Given the description of an element on the screen output the (x, y) to click on. 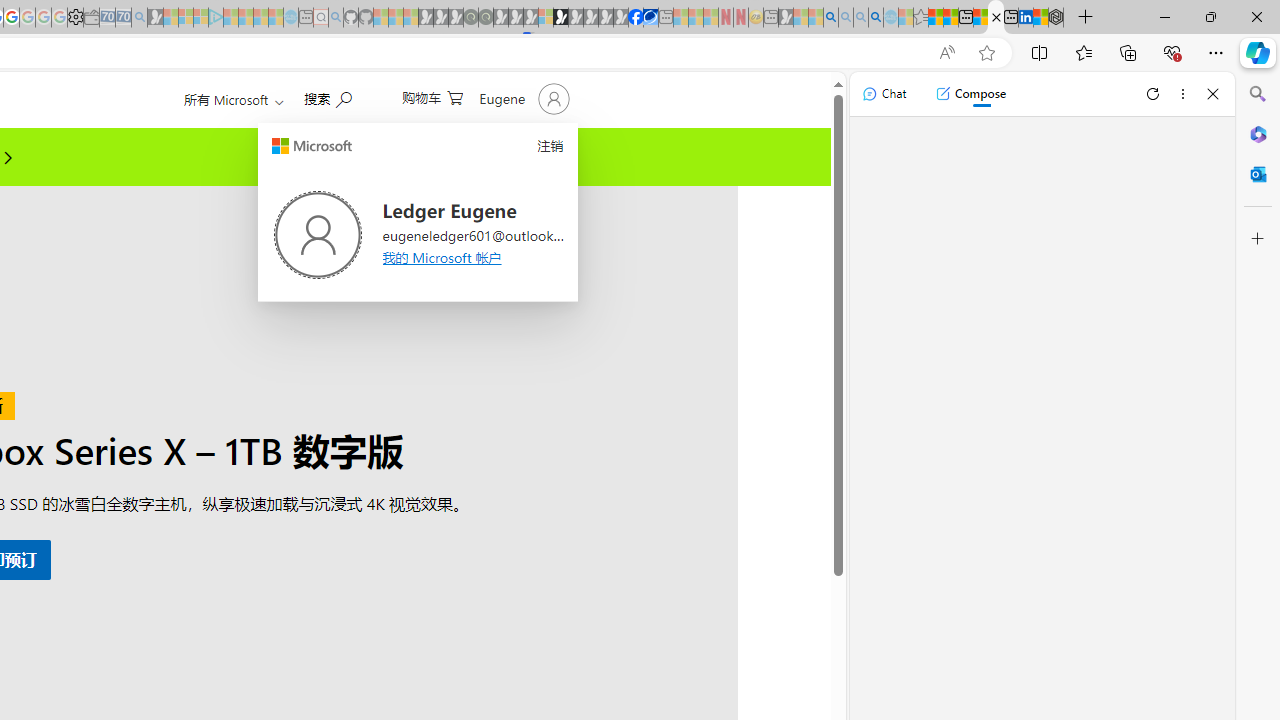
Nordace - Summer Adventures 2024 (1055, 17)
Close tab (996, 16)
Minimize (1164, 16)
Compose (970, 93)
Chat (884, 93)
